Given the description of an element on the screen output the (x, y) to click on. 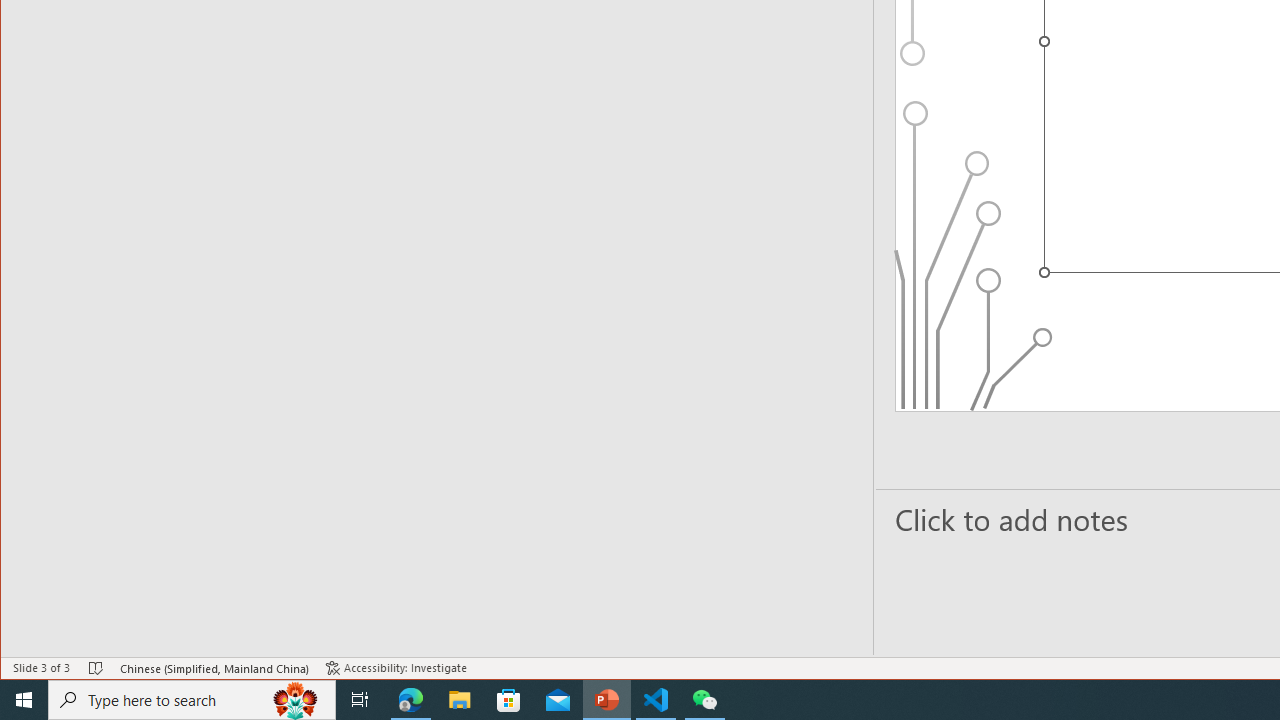
WeChat - 1 running window (704, 699)
